Given the description of an element on the screen output the (x, y) to click on. 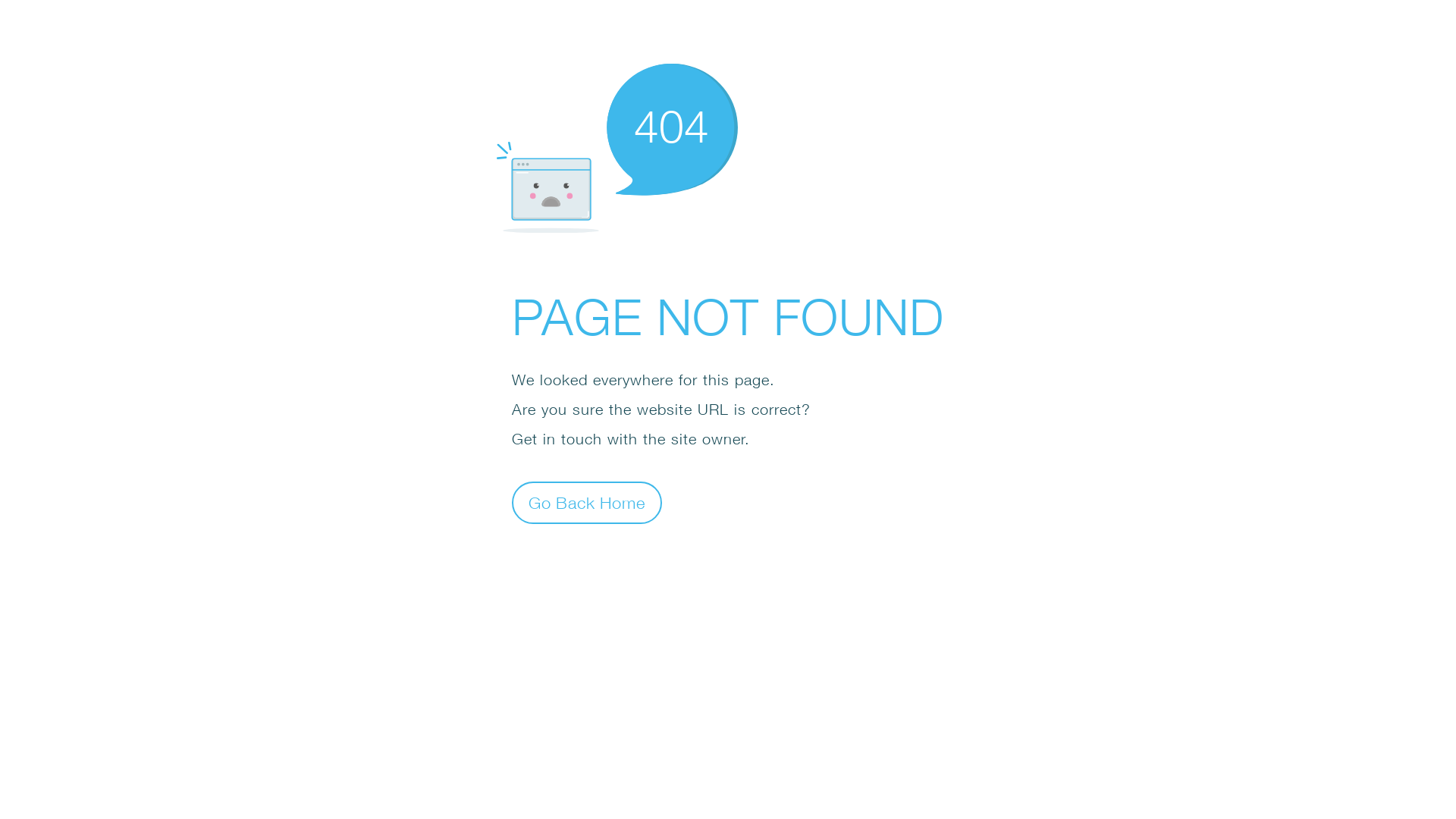
Go Back Home Element type: text (586, 502)
